Given the description of an element on the screen output the (x, y) to click on. 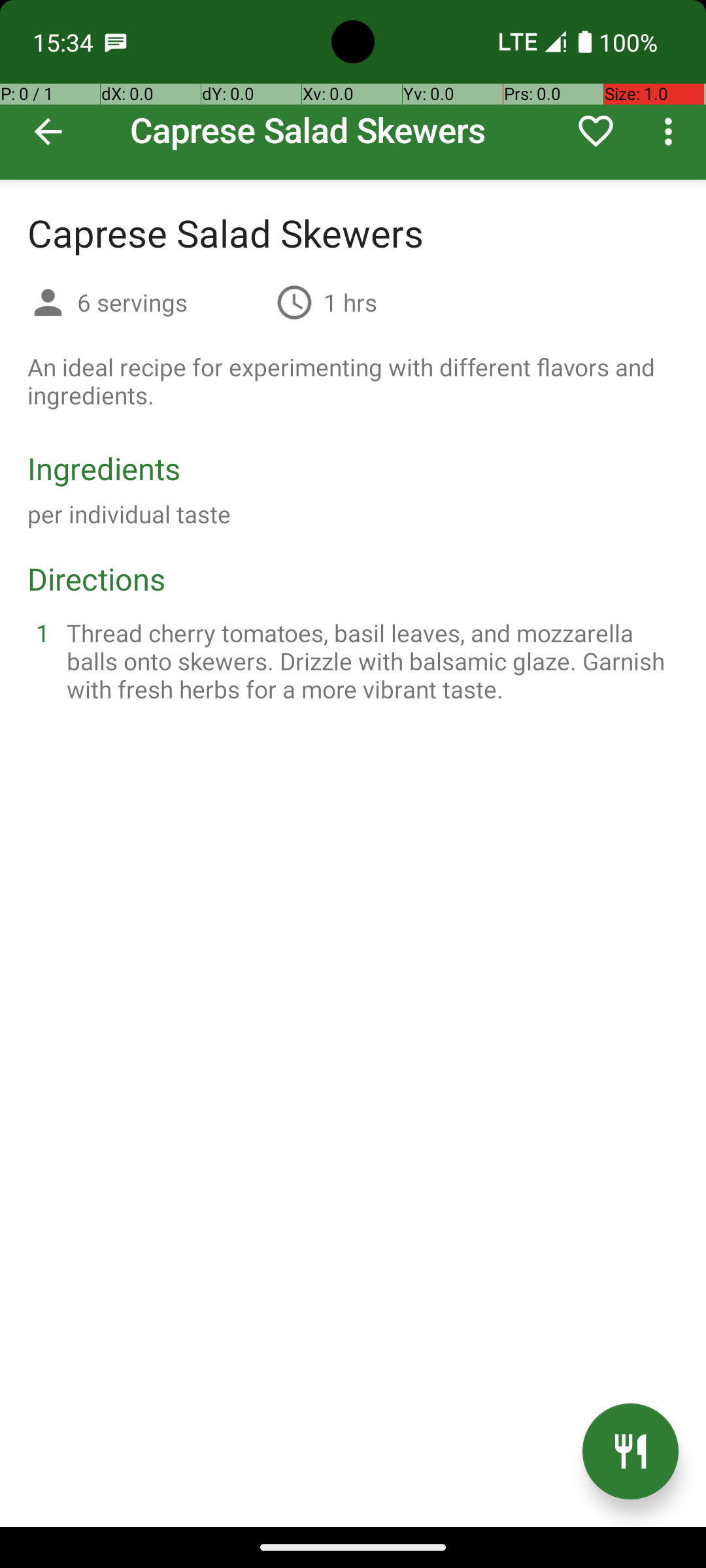
Thread cherry tomatoes, basil leaves, and mozzarella balls onto skewers. Drizzle with balsamic glaze. Garnish with fresh herbs for a more vibrant taste. Element type: android.widget.TextView (368, 660)
